Given the description of an element on the screen output the (x, y) to click on. 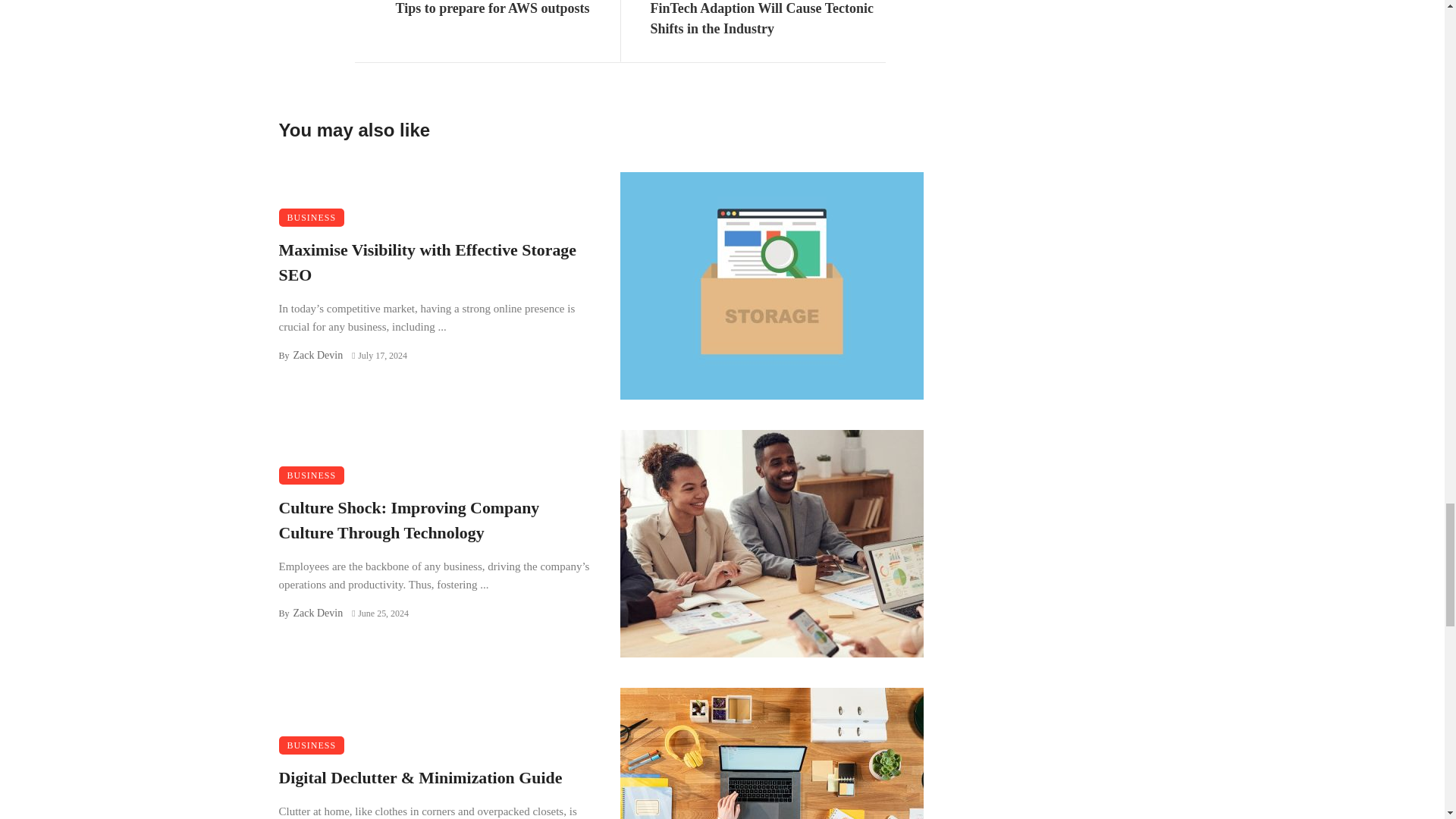
Maximise Visibility with Effective Storage SEO (434, 263)
BUSINESS (312, 217)
Zack Devin (317, 355)
Zack Devin (317, 613)
June 25, 2024 at 8:55 am (380, 613)
Culture Shock: Improving Company Culture Through Technology (434, 521)
July 17, 2024 at 11:58 am (379, 355)
BUSINESS (312, 745)
Tips to prepare for AWS outposts (492, 9)
FinTech Adaption Will Cause Tectonic Shifts in the Industry (767, 19)
BUSINESS (312, 475)
